Given the description of an element on the screen output the (x, y) to click on. 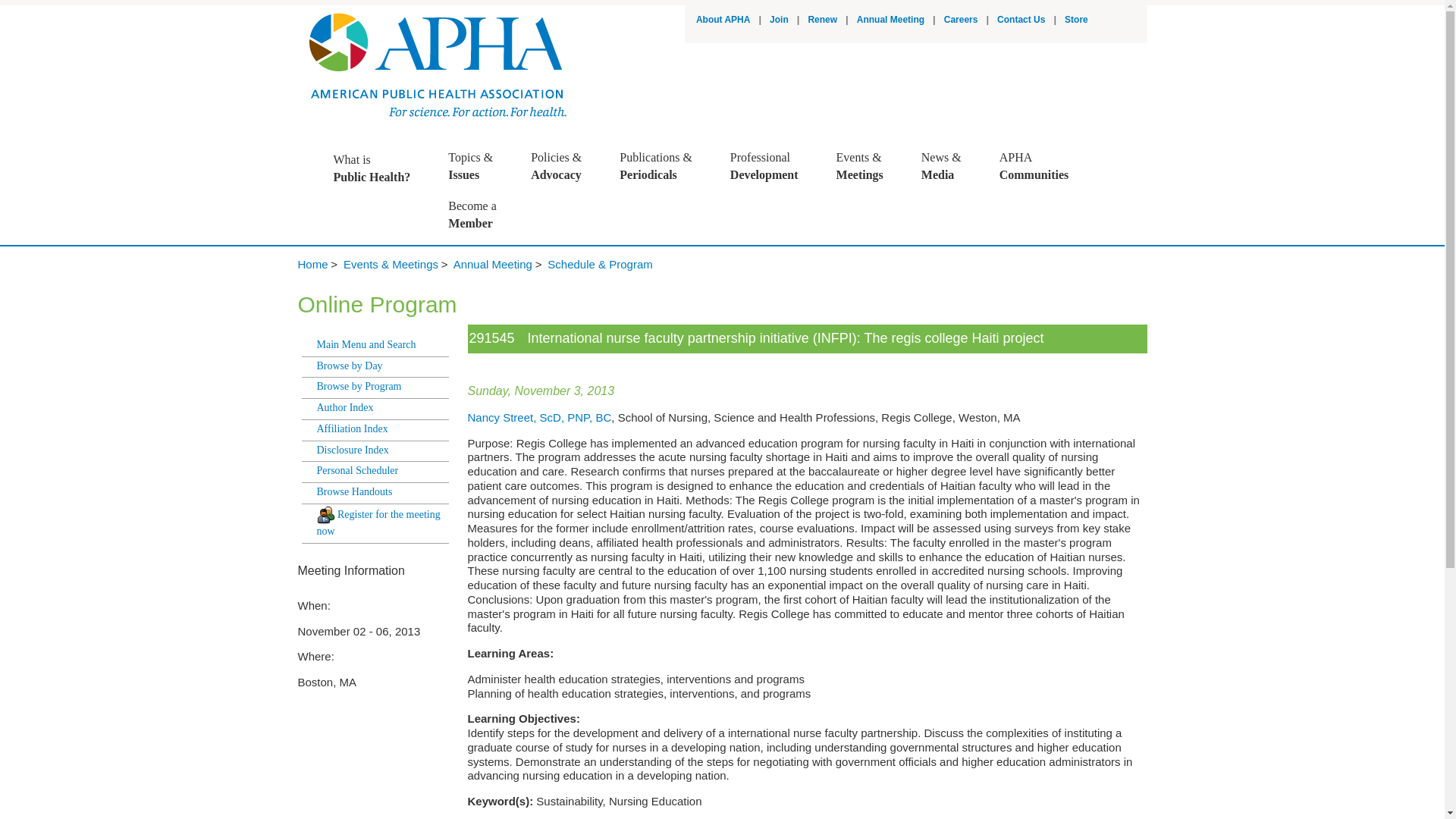
Annual Meeting (890, 19)
Store (1075, 19)
About APHA (723, 19)
Join (779, 19)
Contact Us (1021, 19)
Careers (960, 19)
Renew (772, 166)
